Given the description of an element on the screen output the (x, y) to click on. 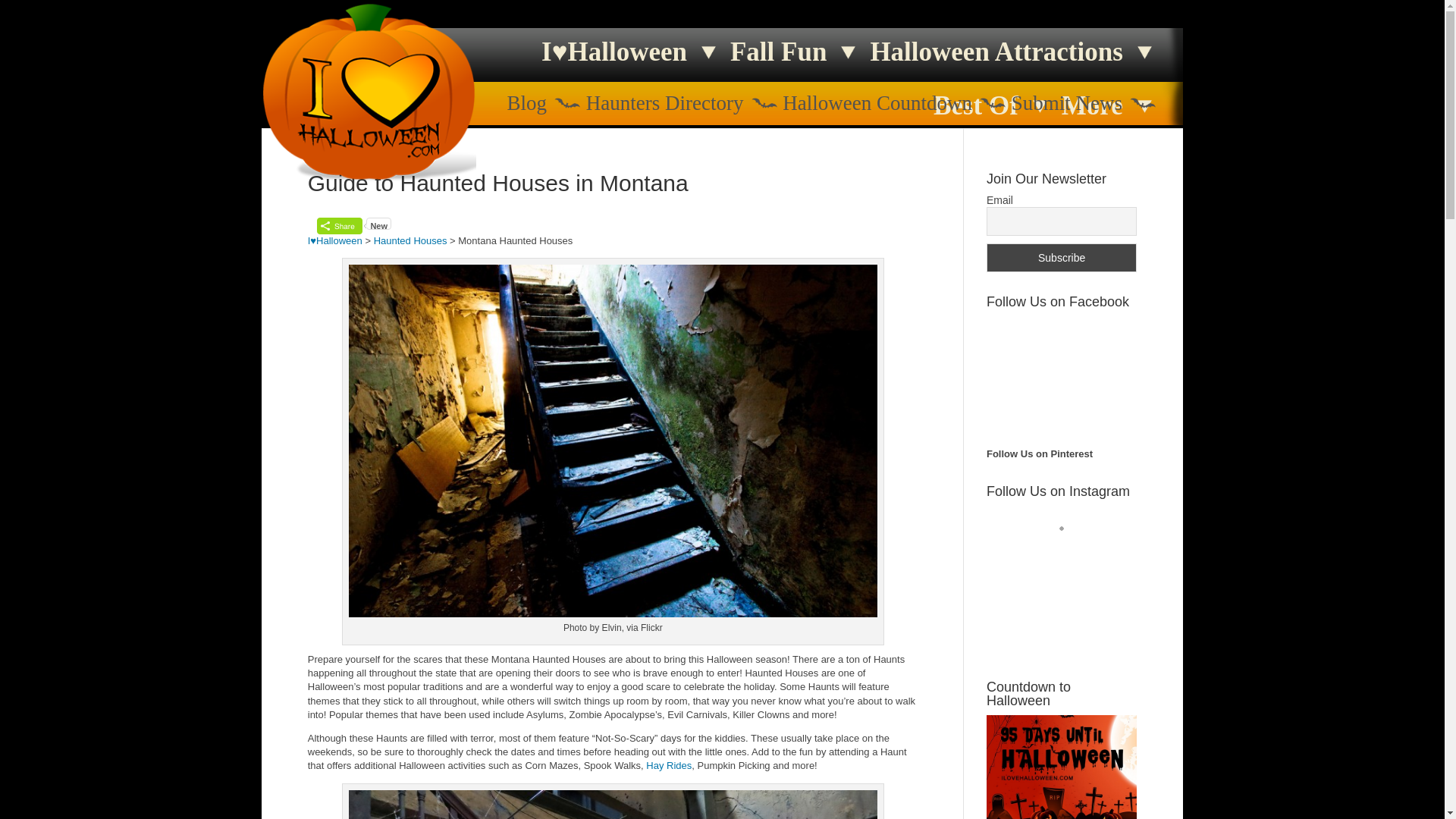
Subscribe (1062, 257)
